Given the description of an element on the screen output the (x, y) to click on. 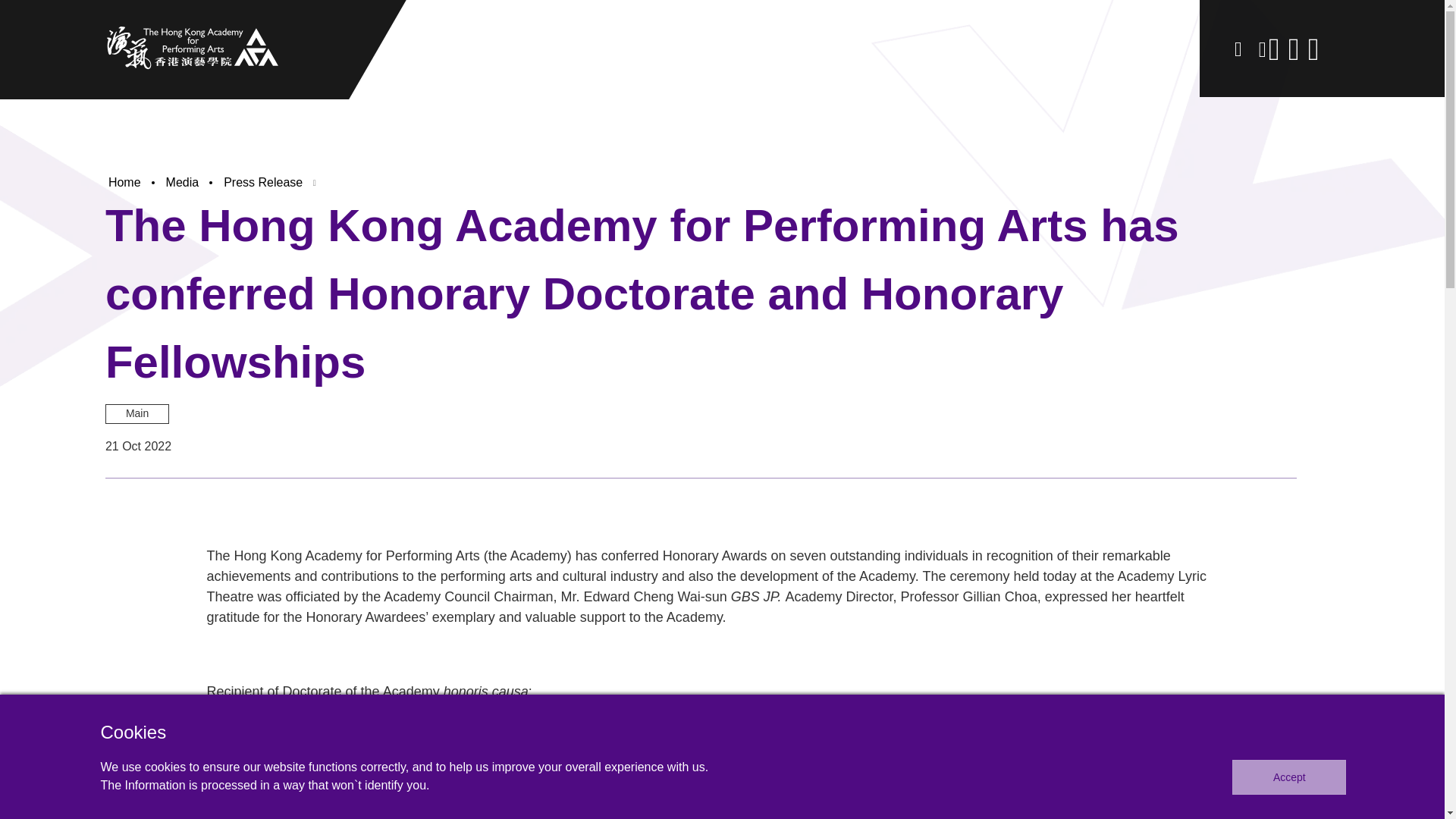
Open Share (1262, 49)
Open Menu (1289, 49)
The Hong Kong Academy for Performing Arts (192, 47)
Open Search (1236, 49)
